Given the description of an element on the screen output the (x, y) to click on. 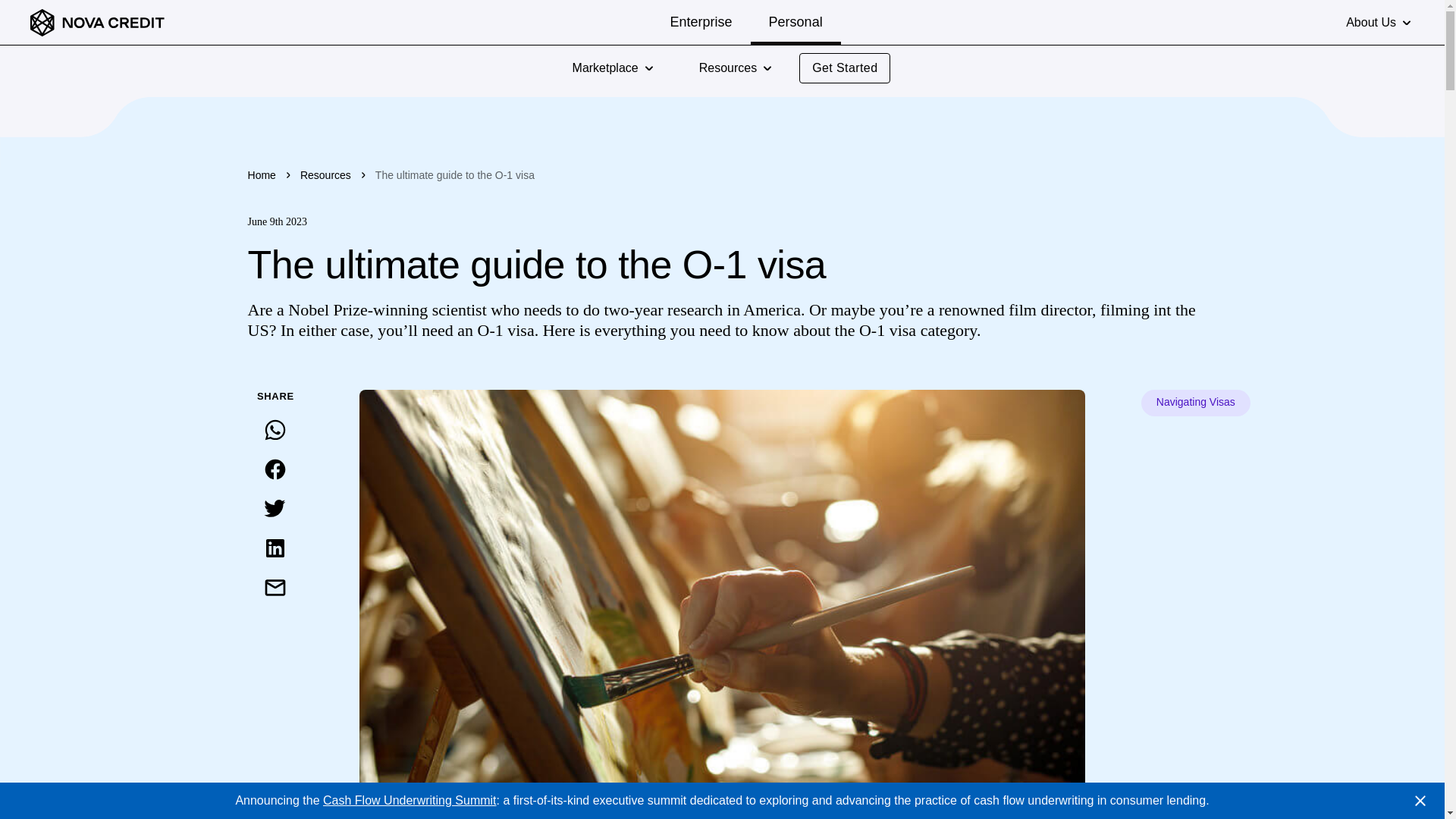
Enterprise (701, 22)
Marketplace (605, 68)
Resources (727, 68)
Nova Credit (97, 22)
Personal (796, 22)
